Given the description of an element on the screen output the (x, y) to click on. 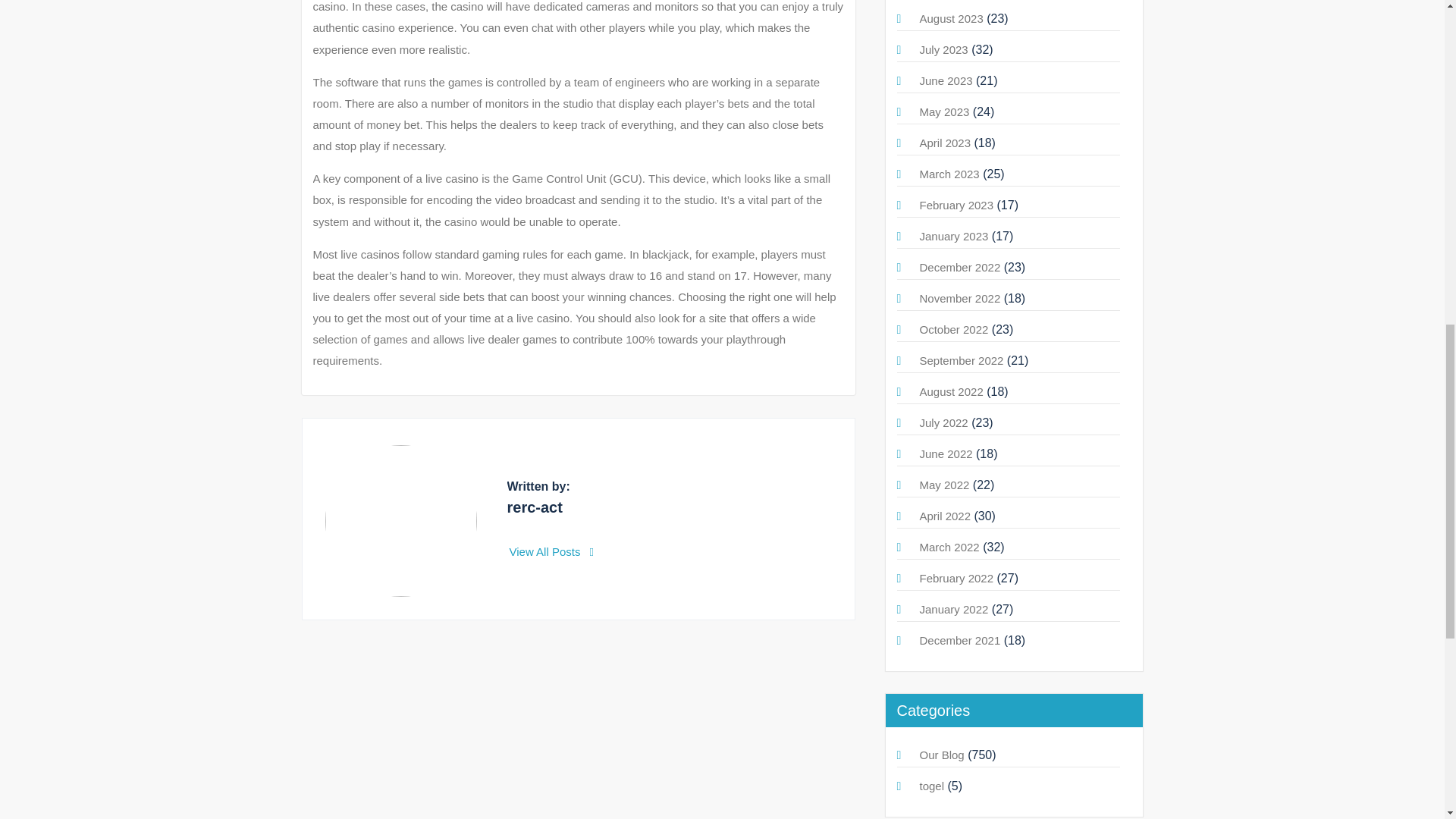
August 2022 (950, 391)
April 2022 (944, 515)
April 2023 (944, 142)
September 2022 (960, 359)
View All Posts (551, 551)
May 2023 (943, 111)
July 2023 (943, 49)
February 2023 (955, 205)
October 2022 (953, 328)
July 2022 (943, 422)
May 2022 (943, 484)
December 2022 (959, 267)
June 2023 (945, 80)
March 2023 (948, 173)
August 2023 (950, 18)
